Given the description of an element on the screen output the (x, y) to click on. 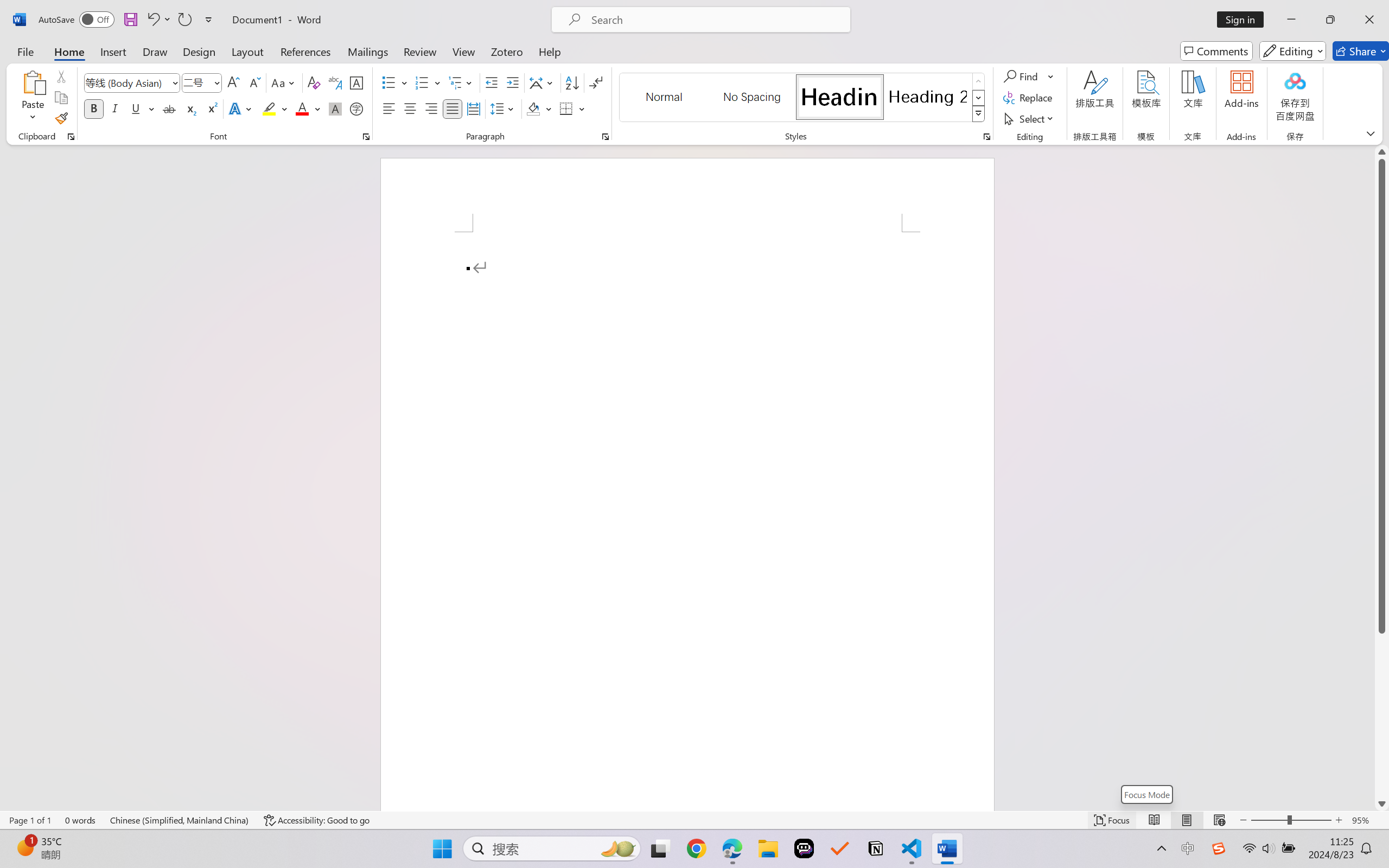
Sign in (1244, 19)
